Given the description of an element on the screen output the (x, y) to click on. 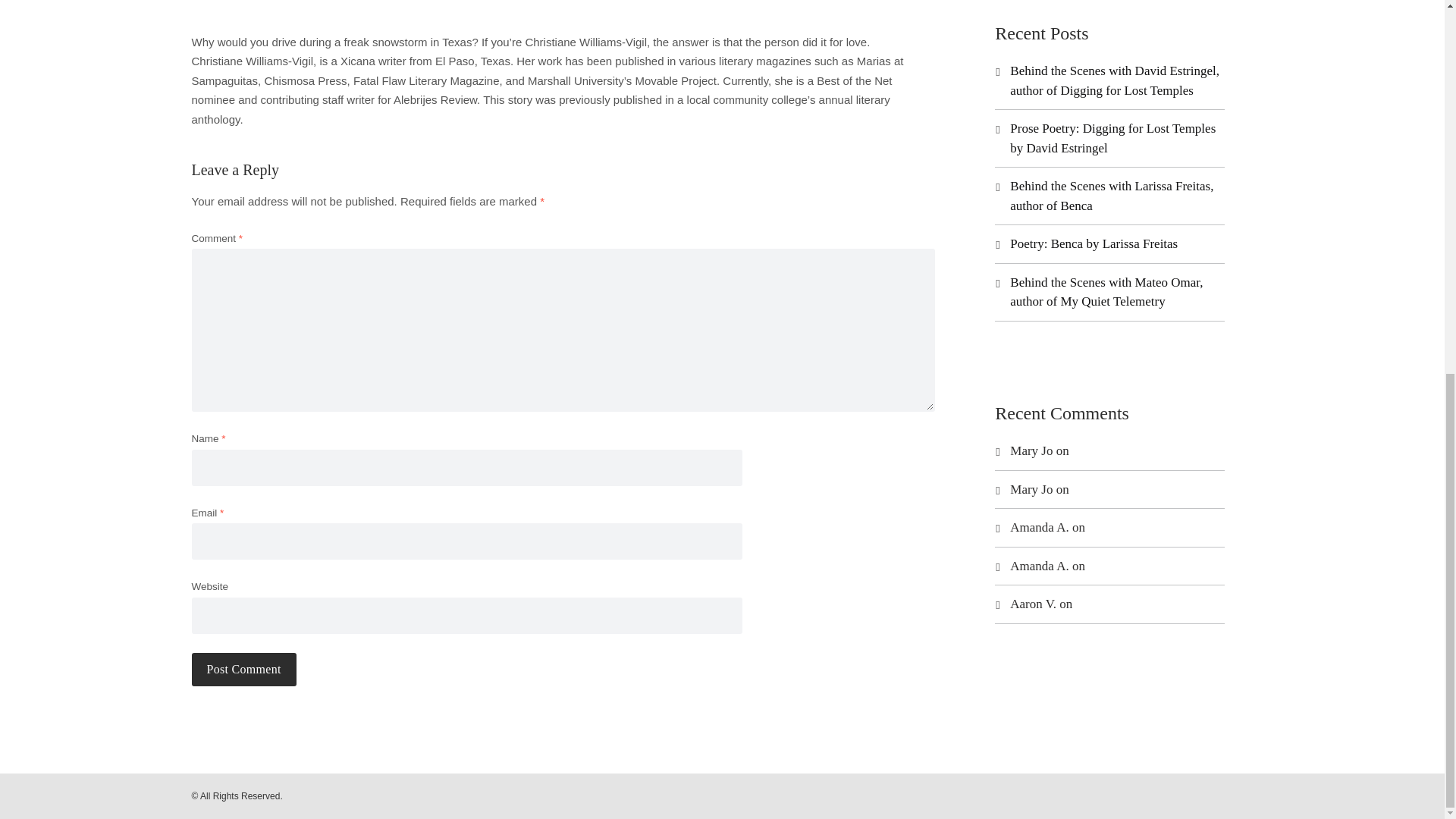
Post Comment (242, 669)
Post Comment (242, 669)
Prose Poetry: Digging for Lost Temples by David Estringel (1112, 138)
Behind the Scenes with Larissa Freitas, author of Benca (1111, 195)
